Given the description of an element on the screen output the (x, y) to click on. 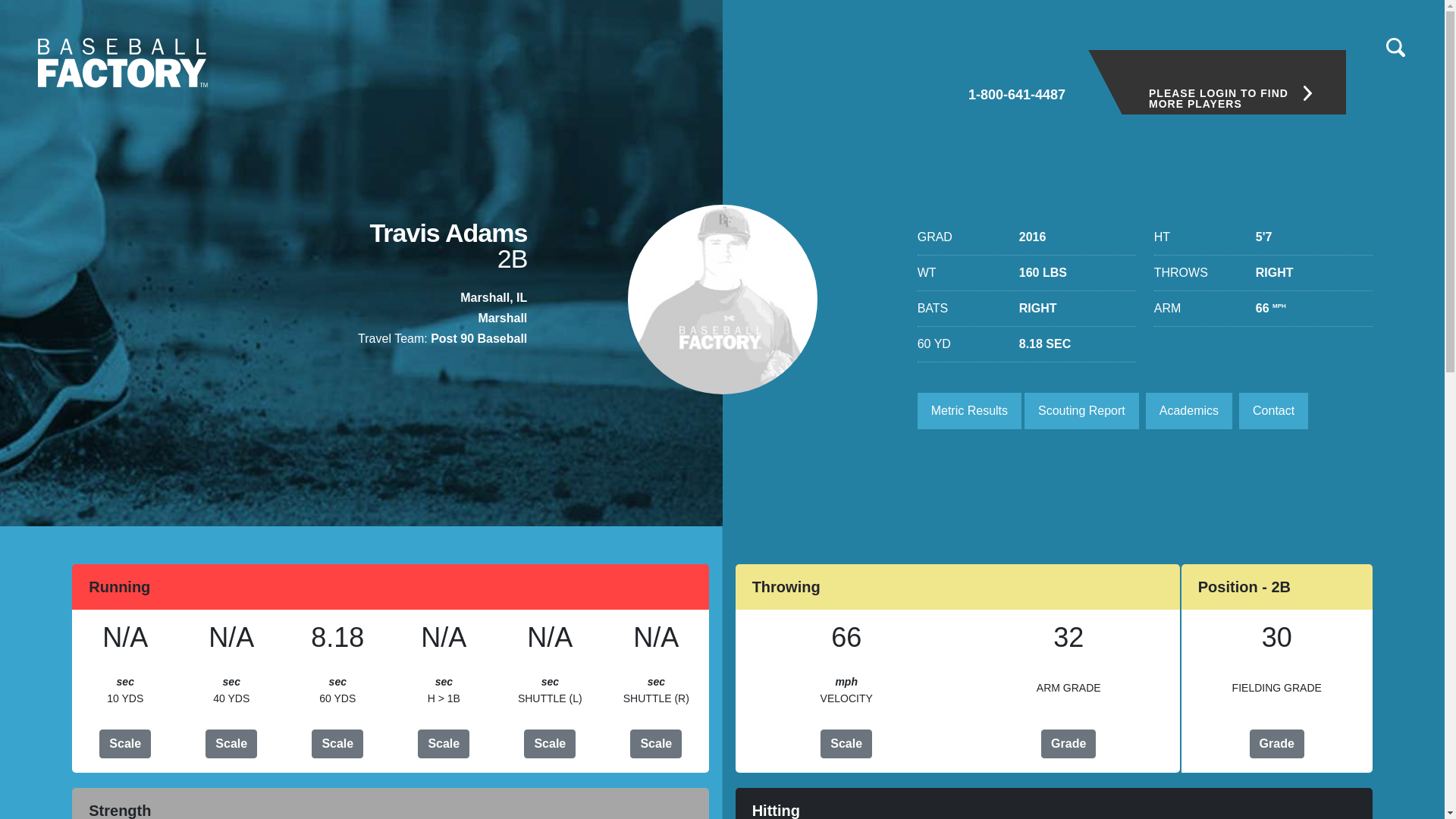
Contact (1273, 411)
Grade (1276, 743)
Scale (846, 743)
Scale (655, 743)
Scale (125, 743)
Academics (1188, 411)
Return Home (122, 62)
PLEASE LOGIN TO FIND MORE PLAYERS (1216, 81)
Scale (549, 743)
Scouting Report (1081, 411)
Scale (336, 743)
Scale (442, 743)
1-800-641-4487 (1016, 75)
Grade (1068, 743)
Metric Results (969, 411)
